Given the description of an element on the screen output the (x, y) to click on. 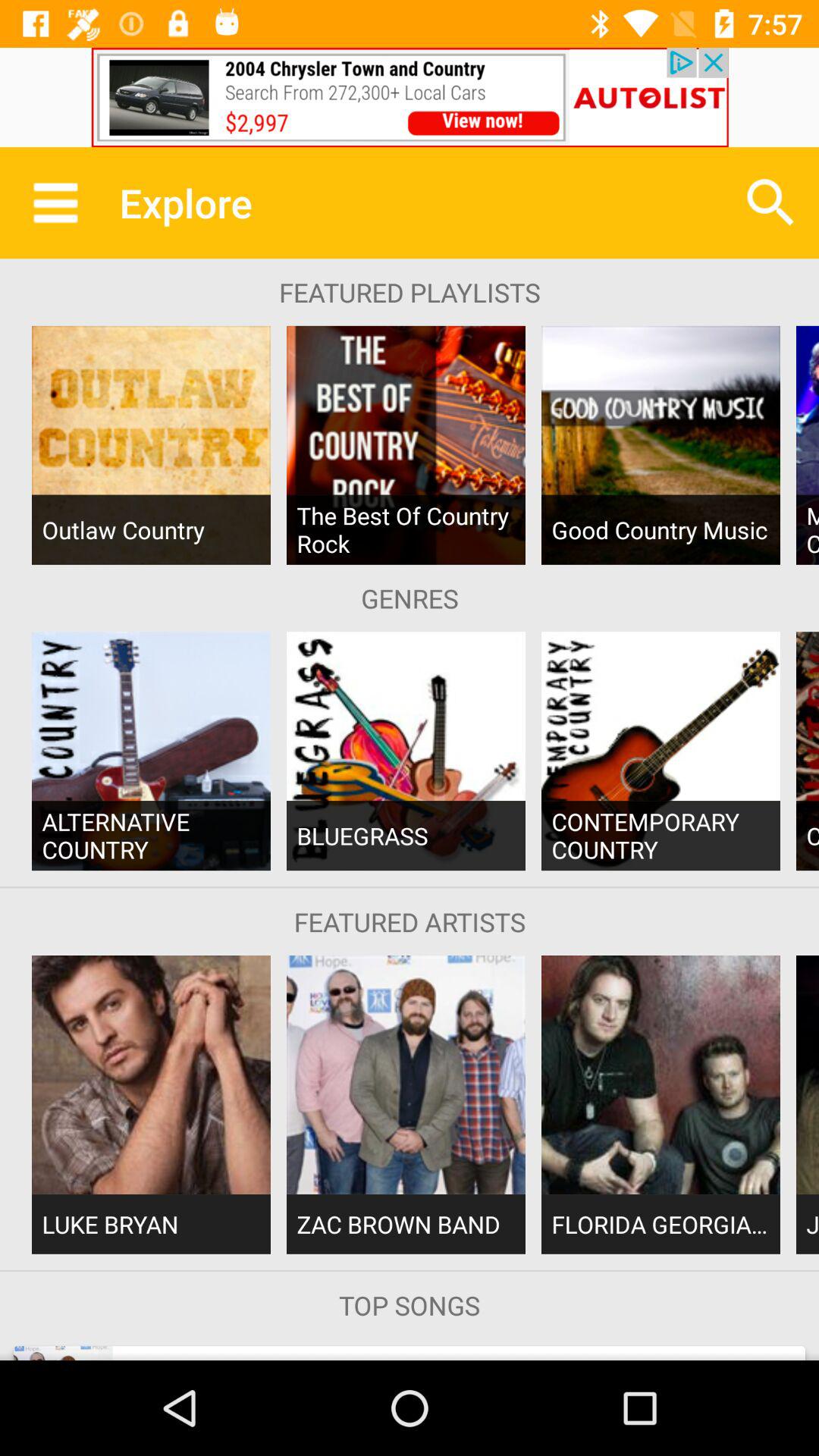
go to the advertisement (409, 97)
